Given the description of an element on the screen output the (x, y) to click on. 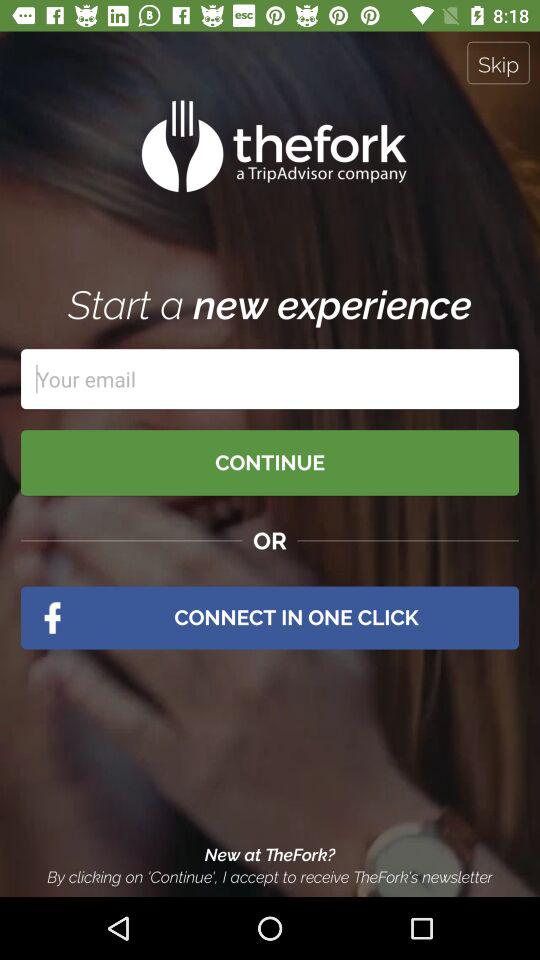
enter email (270, 379)
